Given the description of an element on the screen output the (x, y) to click on. 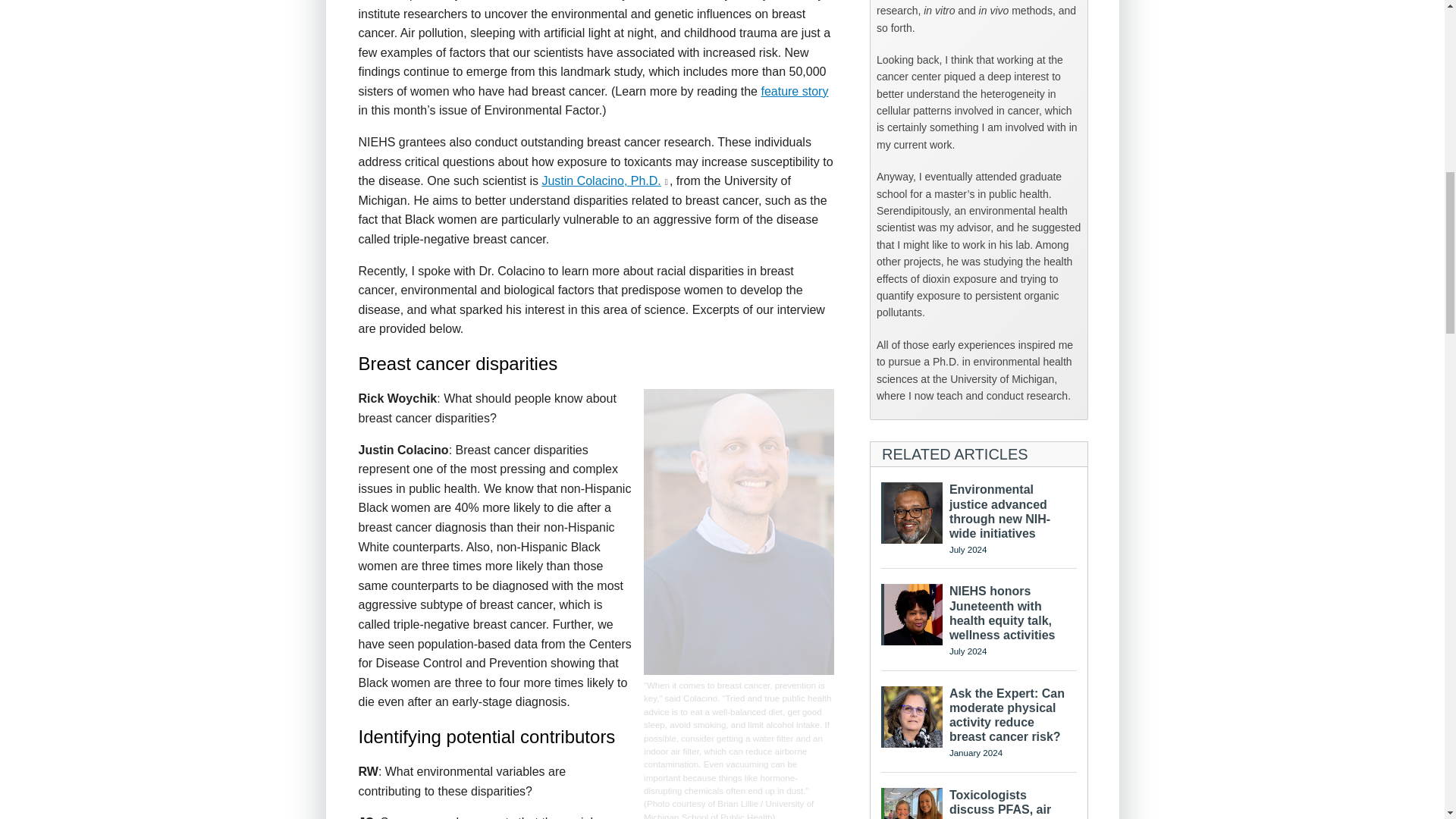
feature story (794, 91)
Justin Colacino, Ph.D. (601, 180)
